Given the description of an element on the screen output the (x, y) to click on. 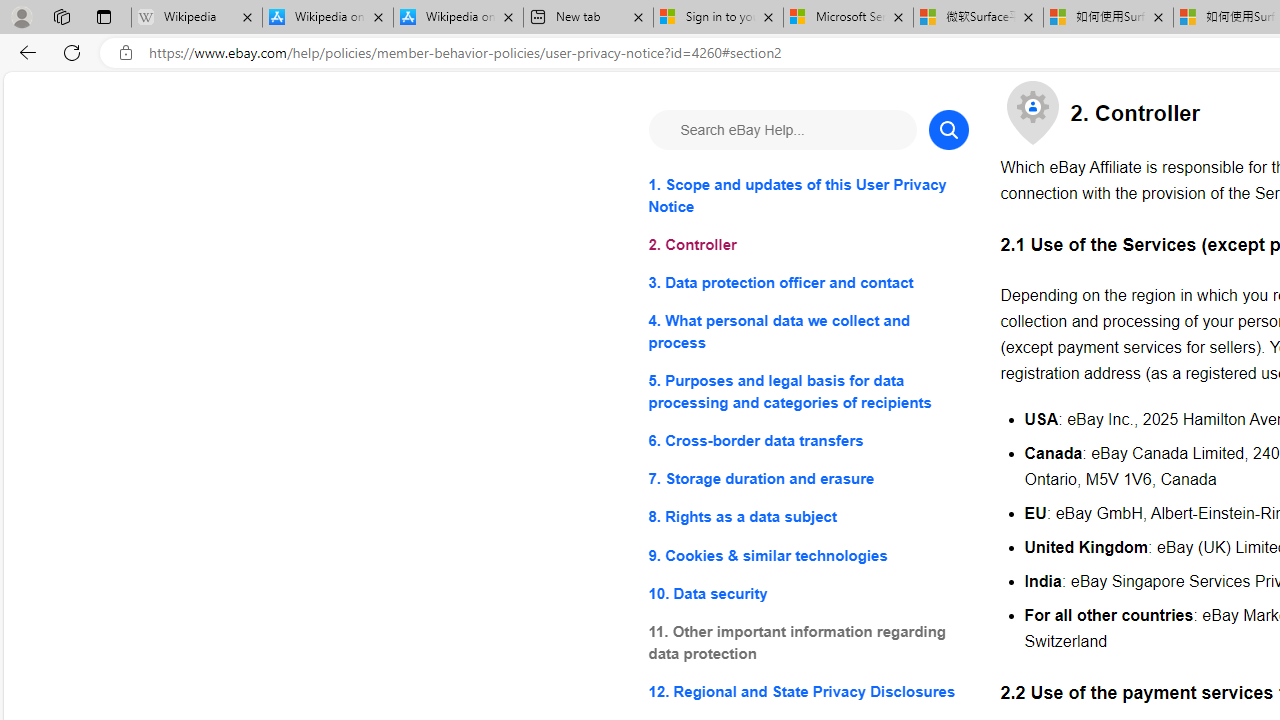
1. Scope and updates of this User Privacy Notice (807, 196)
7. Storage duration and erasure (807, 479)
12. Regional and State Privacy Disclosures (807, 690)
9. Cookies & similar technologies (807, 555)
3. Data protection officer and contact (807, 283)
8. Rights as a data subject (807, 517)
2. Controller (807, 245)
Search eBay Help... (781, 129)
11. Other important information regarding data protection (807, 642)
